Given the description of an element on the screen output the (x, y) to click on. 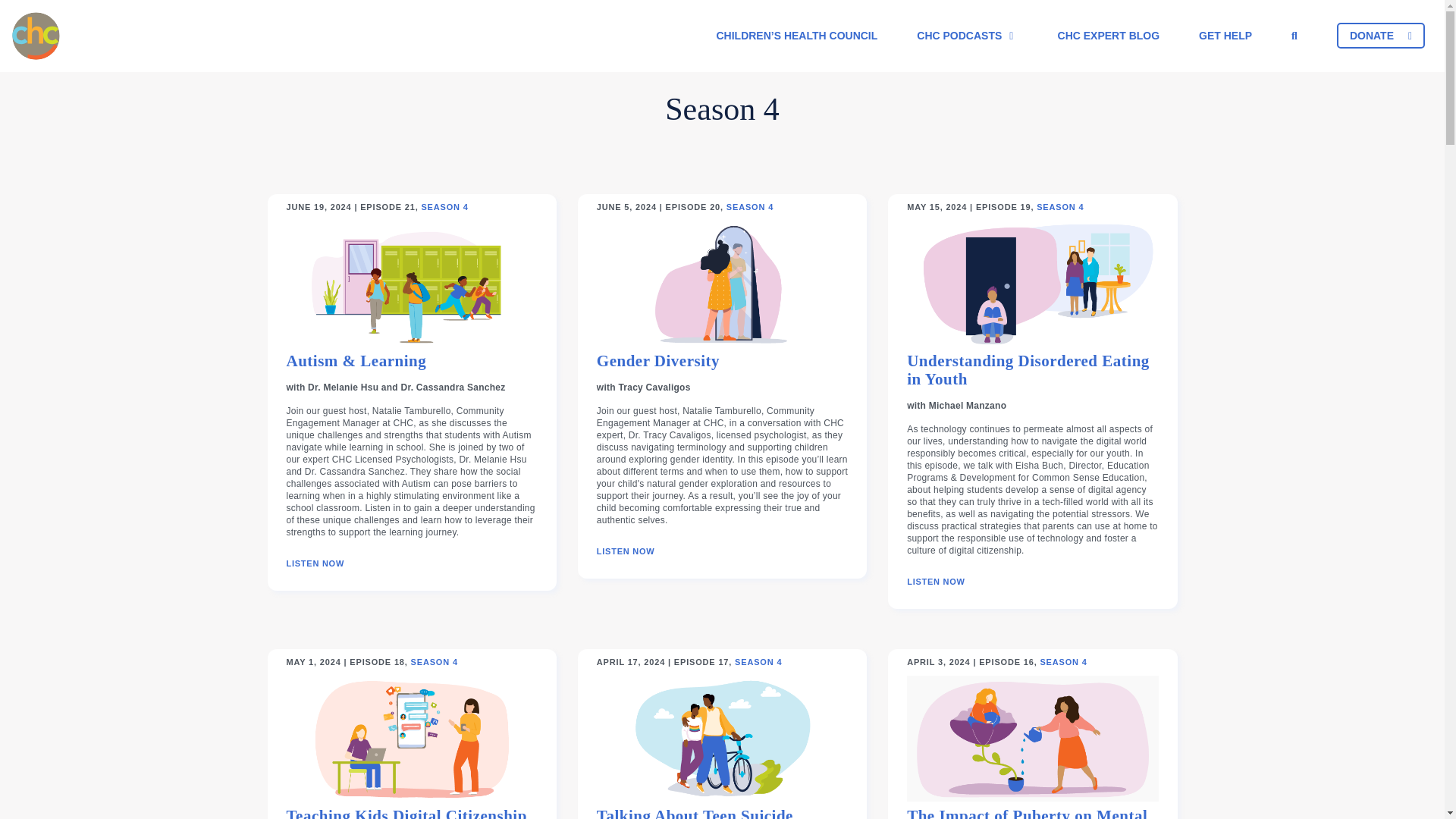
The Impact of Puberty on Mental Health (1032, 812)
Gender Diversity (657, 366)
View the post titled 'Teaching Kids Digital Citizenship'. (406, 812)
SEASON 4 (758, 662)
LISTEN NOW (936, 582)
SEASON 4 (1062, 662)
SEASON 4 (749, 206)
LISTEN NOW (315, 563)
Teaching Kids Digital Citizenship (406, 812)
Talking About Teen Suicide (694, 812)
